Given the description of an element on the screen output the (x, y) to click on. 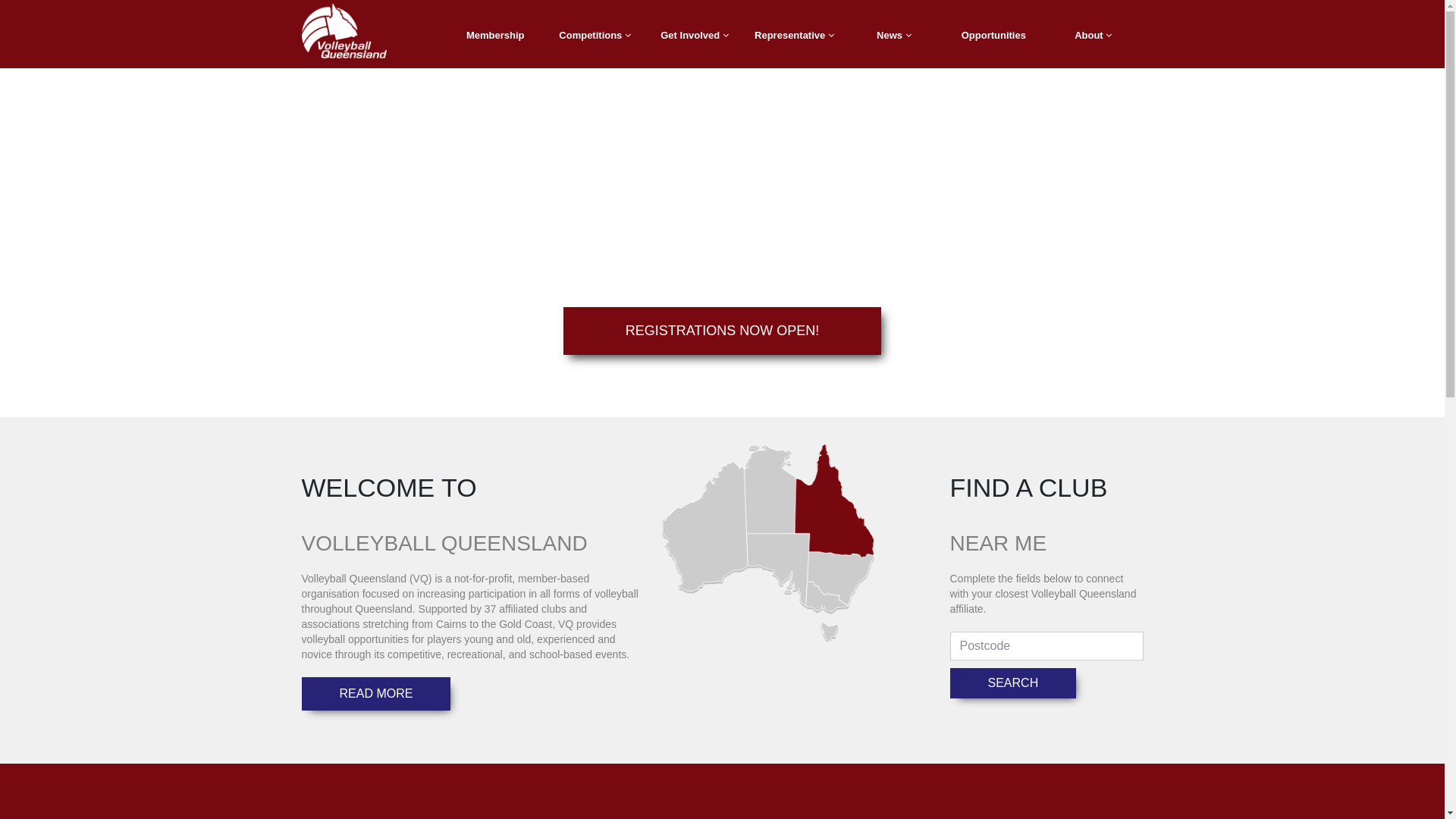
Previous Element type: text (108, 242)
READ MORE Element type: text (376, 693)
REGISTRATIONS NOW OPEN! Element type: text (722, 330)
Membership Element type: text (495, 35)
search Element type: text (1012, 683)
READ MORE Element type: text (376, 693)
Opportunities Element type: text (993, 35)
Next Element type: text (1335, 242)
REGISTRATIONS NOW OPEN! Element type: text (722, 330)
